Given the description of an element on the screen output the (x, y) to click on. 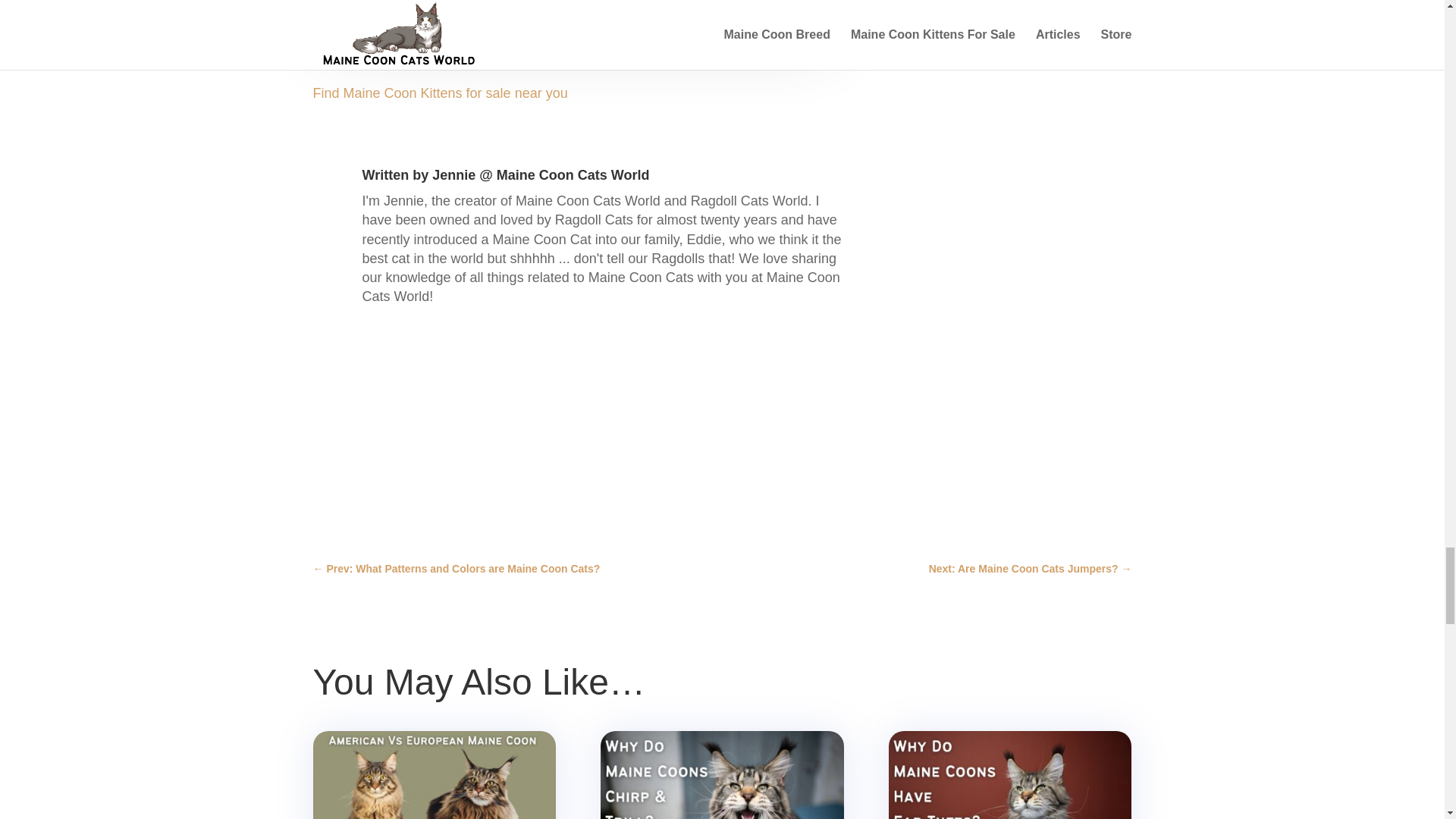
Find out more about Maine Coon Cats (428, 55)
Find Maine Coon Kittens for sale near you (440, 92)
